Given the description of an element on the screen output the (x, y) to click on. 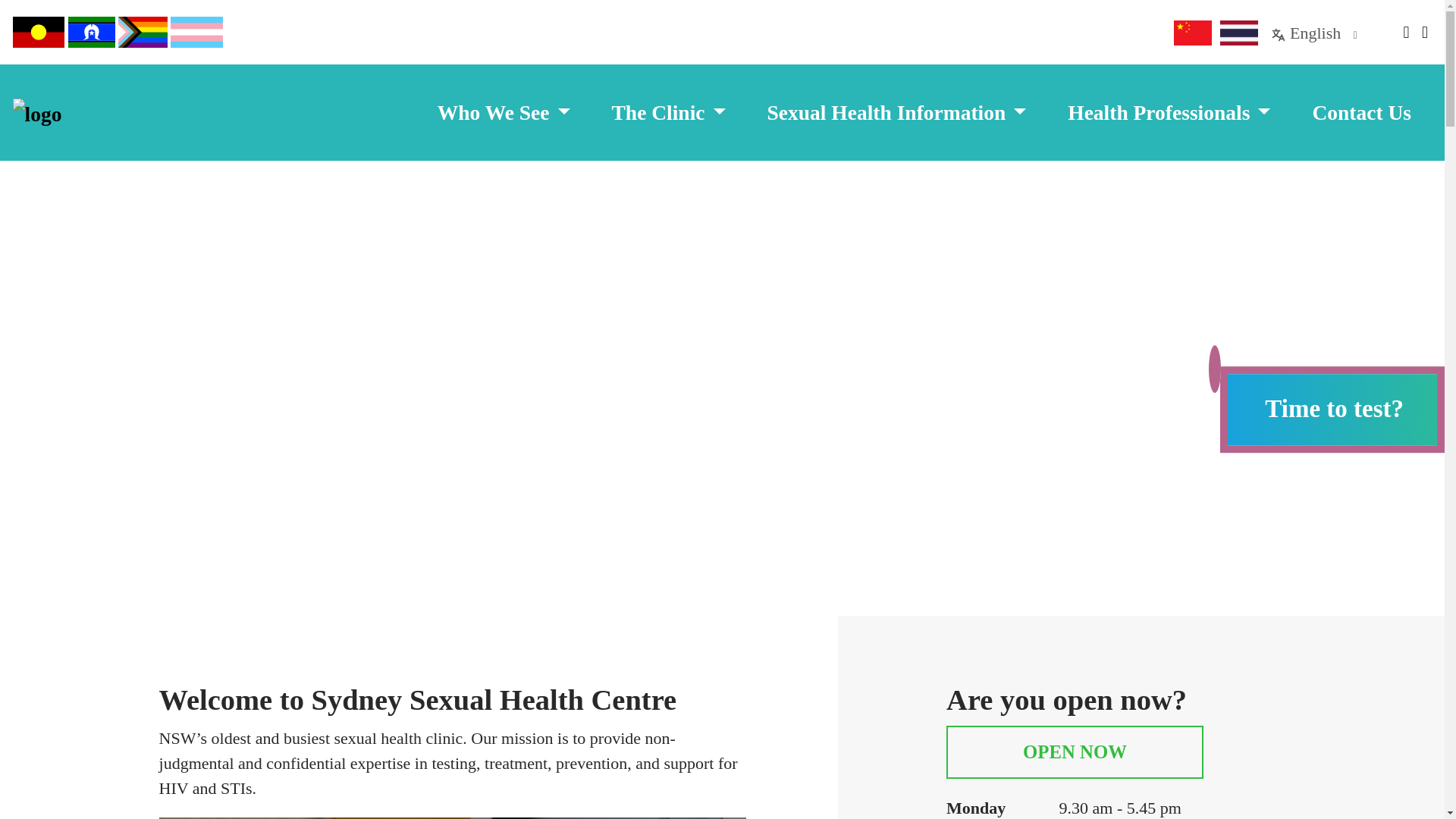
Health Professionals (1168, 112)
Who We See (503, 112)
English (1313, 32)
Sexual Health Information (895, 112)
The Clinic (668, 112)
